Given the description of an element on the screen output the (x, y) to click on. 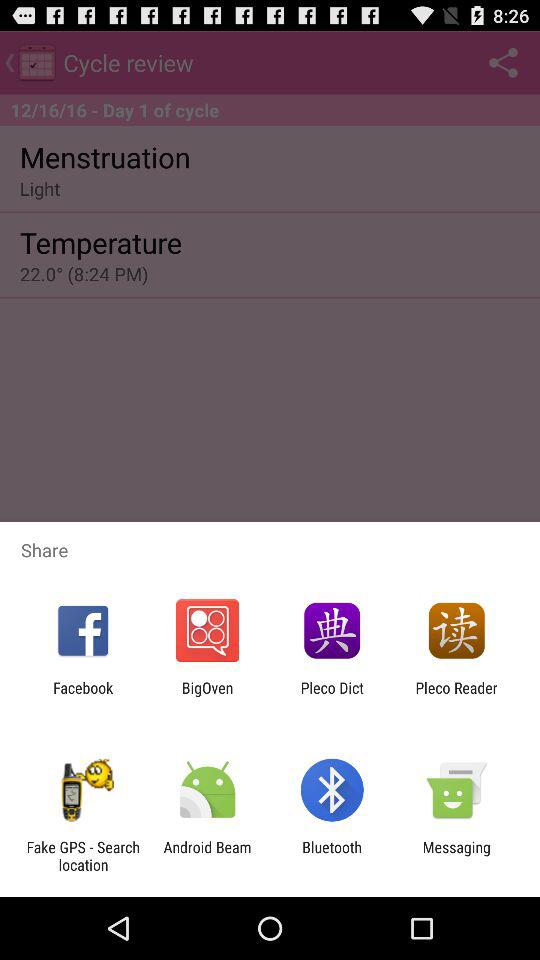
launch the icon next to the fake gps search item (207, 856)
